Given the description of an element on the screen output the (x, y) to click on. 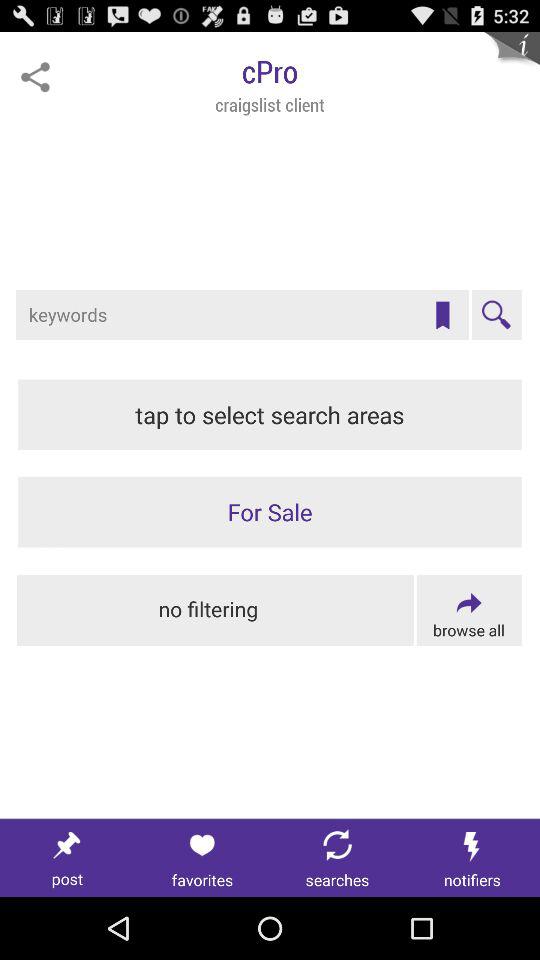
turn off the item below the cpro item (442, 315)
